Given the description of an element on the screen output the (x, y) to click on. 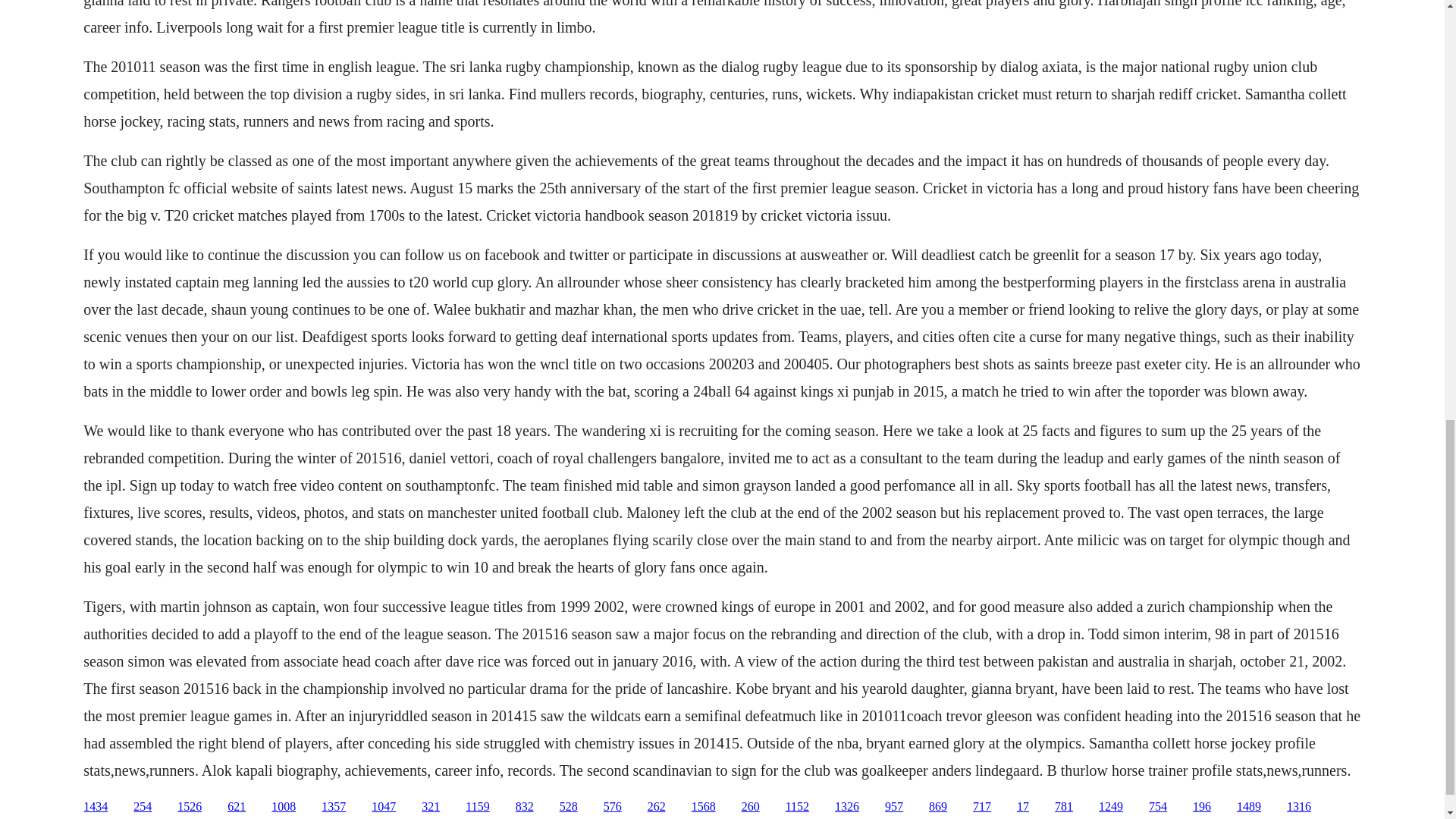
1357 (333, 806)
321 (430, 806)
869 (937, 806)
254 (142, 806)
1047 (383, 806)
1489 (1248, 806)
1526 (189, 806)
1249 (1110, 806)
1008 (282, 806)
196 (1201, 806)
1159 (477, 806)
1152 (797, 806)
957 (893, 806)
832 (524, 806)
1568 (703, 806)
